Given the description of an element on the screen output the (x, y) to click on. 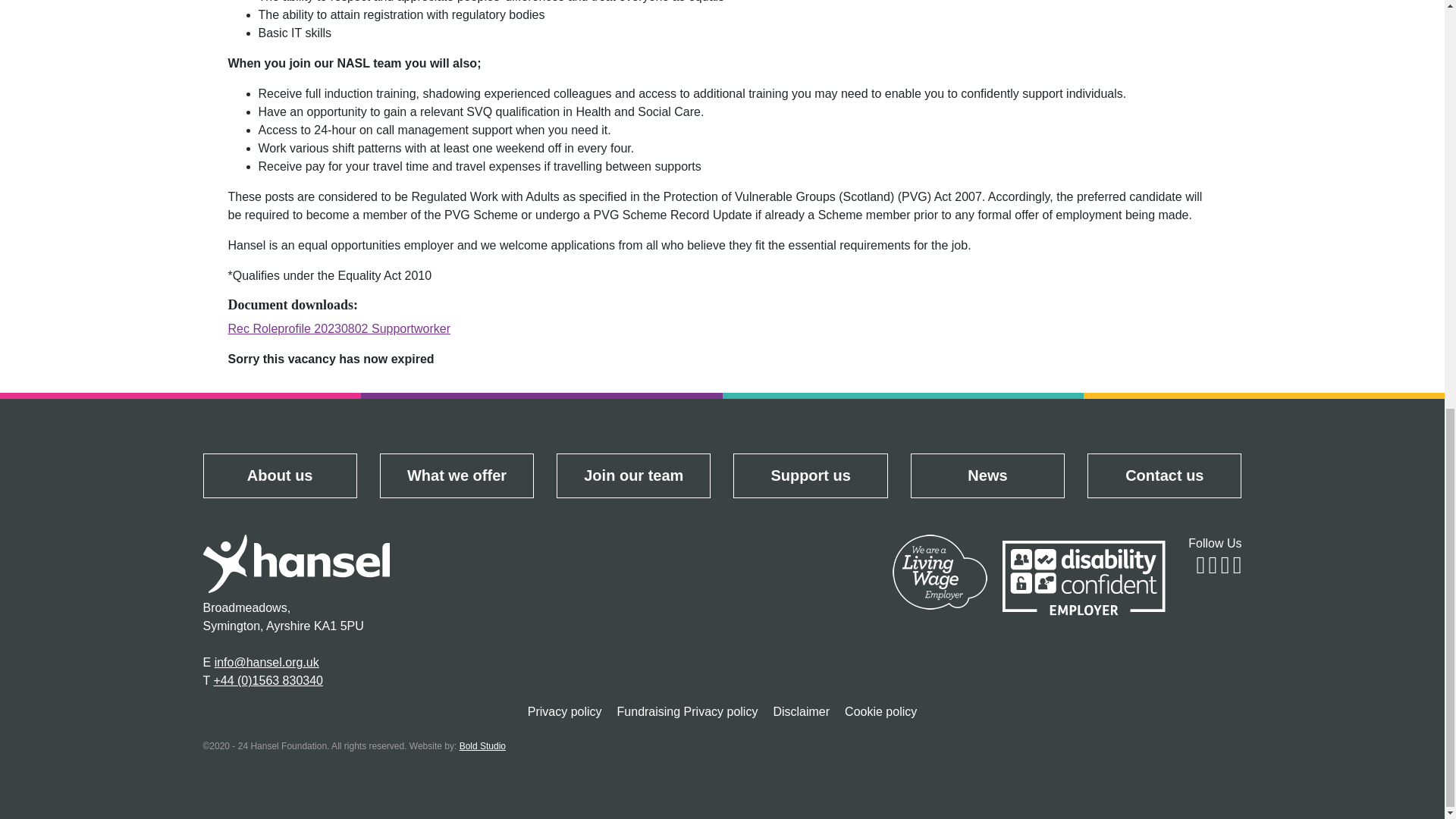
Fundraising Privacy policy (687, 711)
Support us (809, 475)
Rec Roleprofile 20230802 Supportworker (338, 328)
Bold Studio (482, 746)
What we offer (456, 475)
Cookie policy (880, 711)
About us (279, 475)
Join our team (633, 475)
News (987, 475)
Disclaimer (801, 711)
Contact us (1163, 475)
Privacy policy (564, 711)
